Given the description of an element on the screen output the (x, y) to click on. 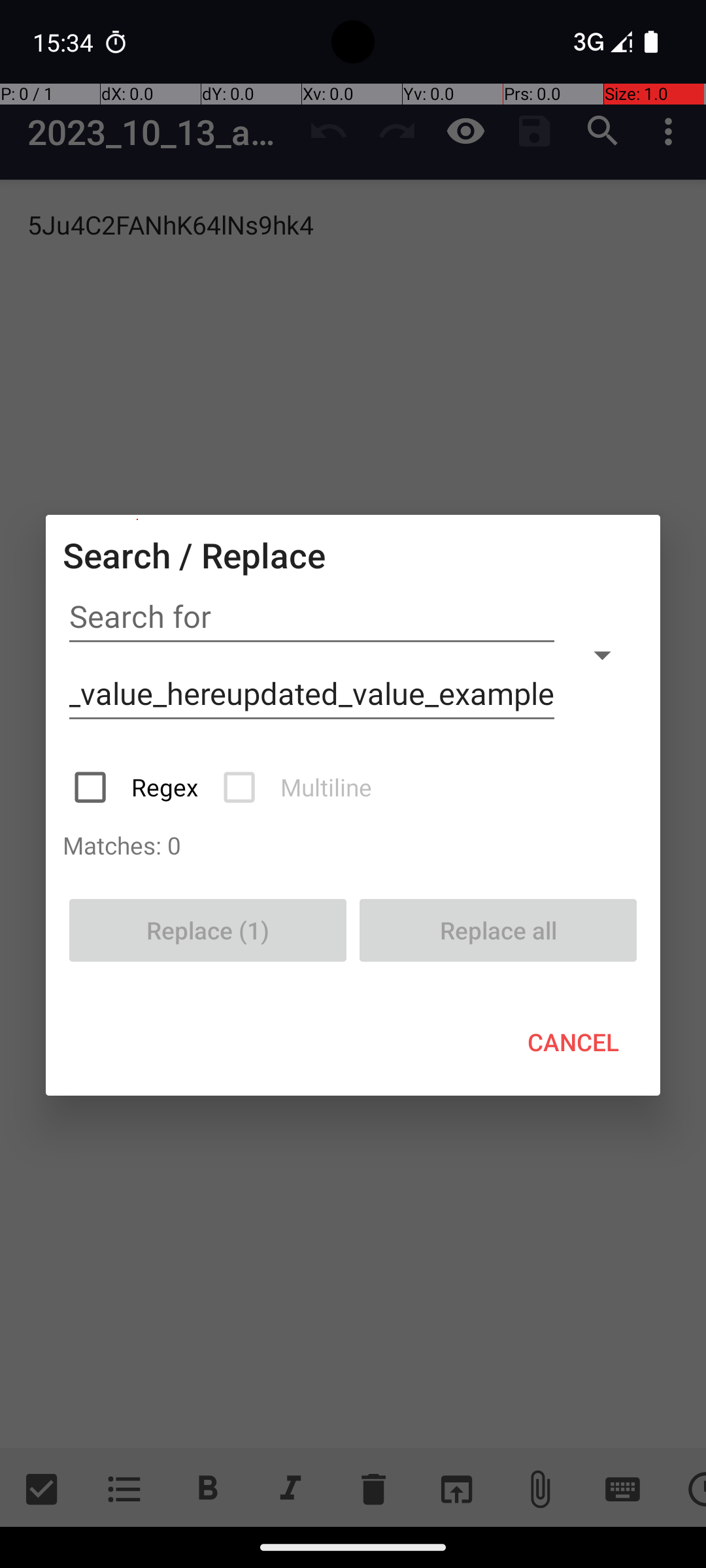
Search / Replace Element type: android.widget.TextView (193, 554)
Search for Element type: android.widget.EditText (311, 616)
new_value_hereupdated_value_example Element type: android.widget.EditText (311, 693)
Regex Element type: android.widget.CheckBox (136, 786)
Multiline Element type: android.widget.CheckBox (298, 786)
Matches: 0 Element type: android.widget.TextView (352, 844)
Replace (1) Element type: android.widget.Button (207, 930)
Replace all Element type: android.widget.Button (498, 930)
